Given the description of an element on the screen output the (x, y) to click on. 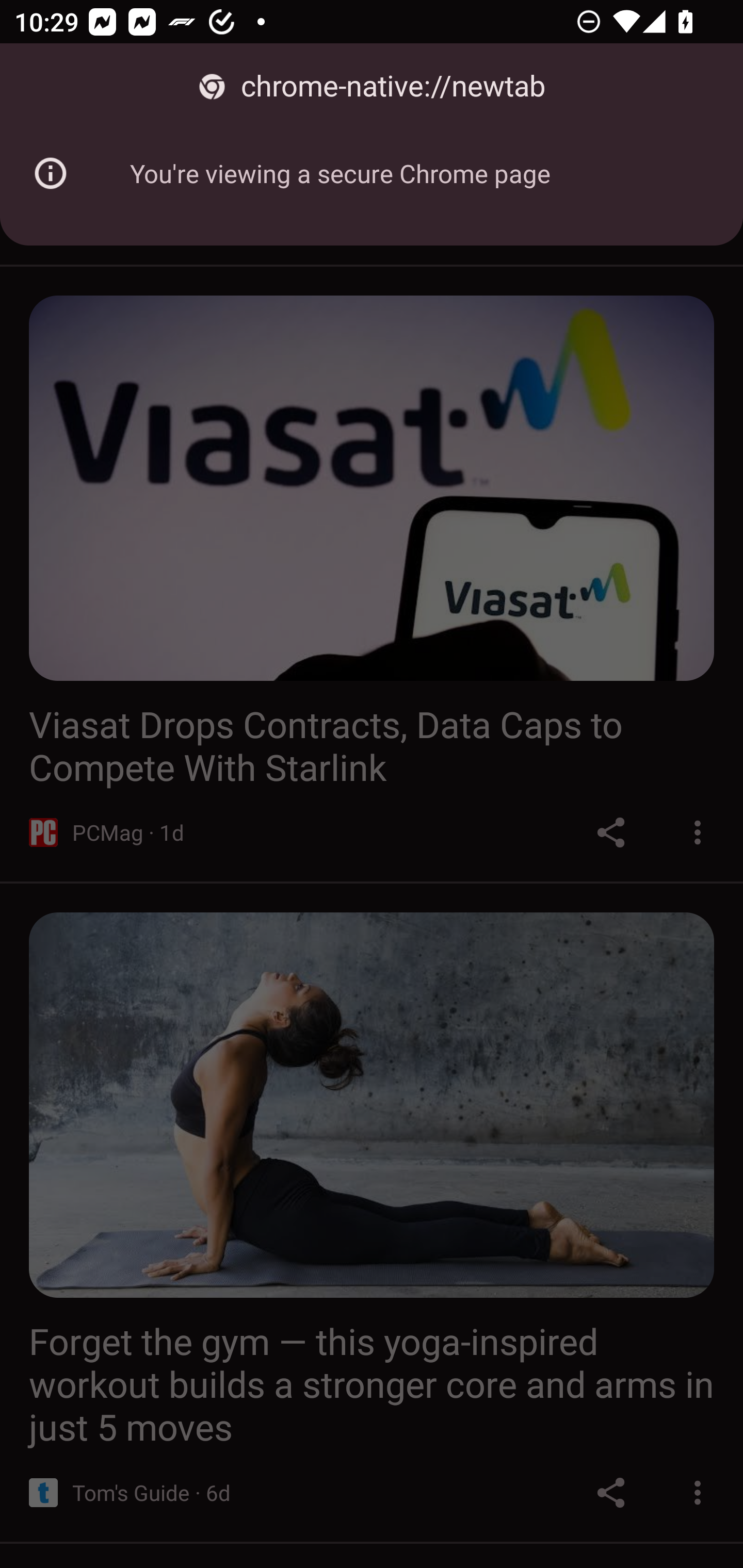
chrome-native://newtab (371, 86)
